Given the description of an element on the screen output the (x, y) to click on. 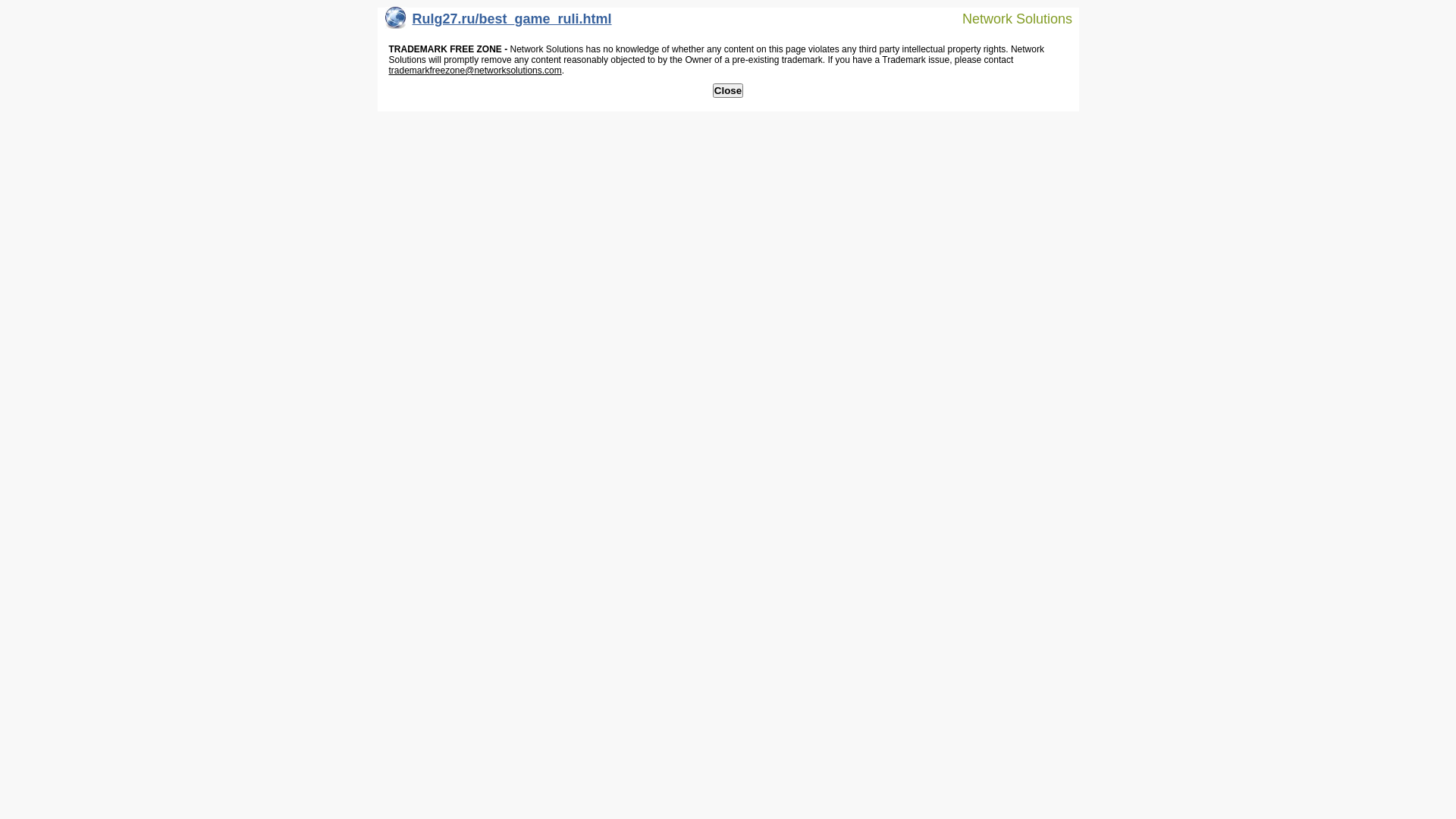
Close Element type: text (727, 90)
Rulg27.ru/best_game_ruli.html Element type: text (498, 21)
trademarkfreezone@networksolutions.com Element type: text (474, 70)
Network Solutions Element type: text (1007, 17)
